Given the description of an element on the screen output the (x, y) to click on. 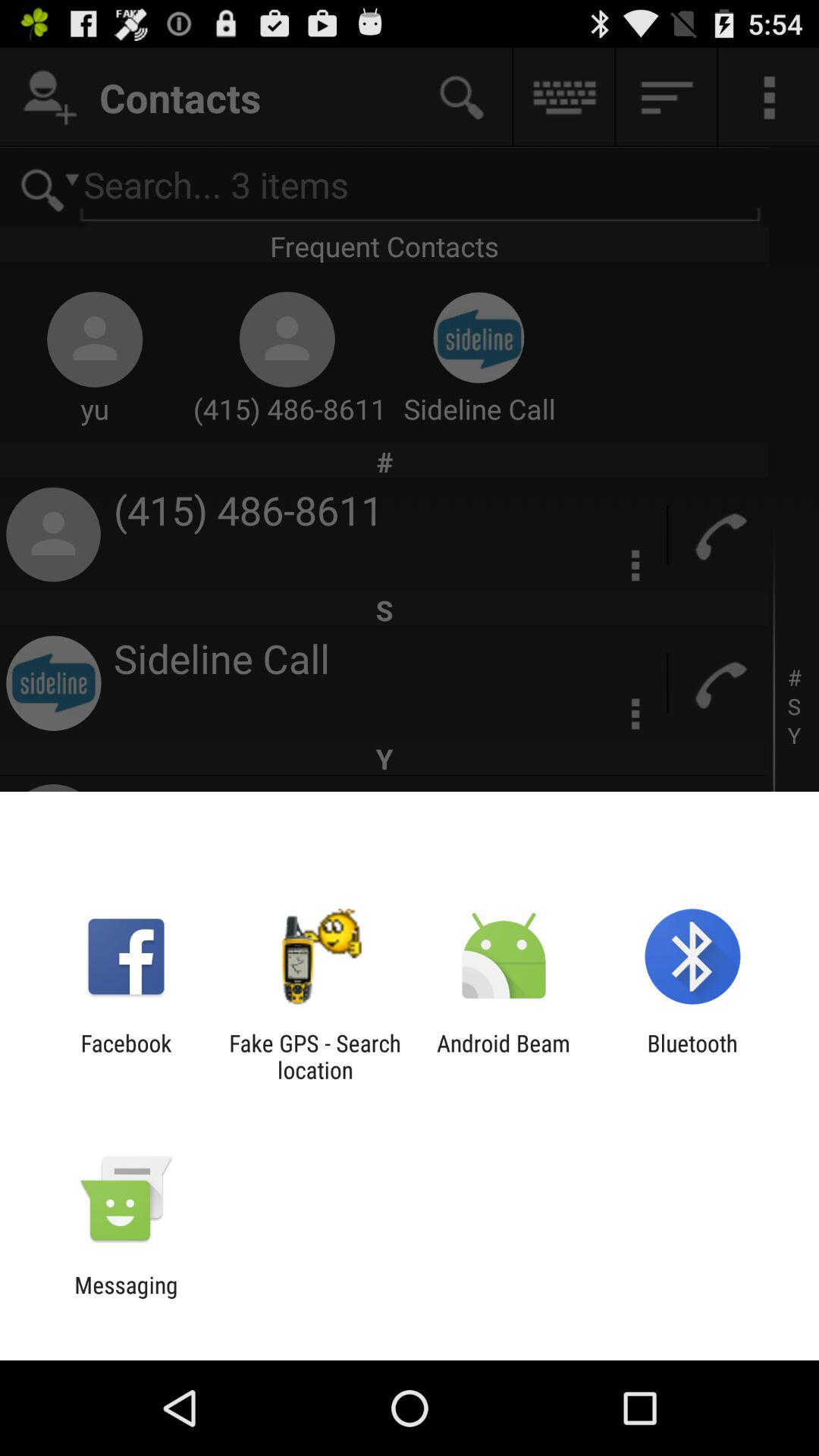
choose the app next to facebook (314, 1056)
